Given the description of an element on the screen output the (x, y) to click on. 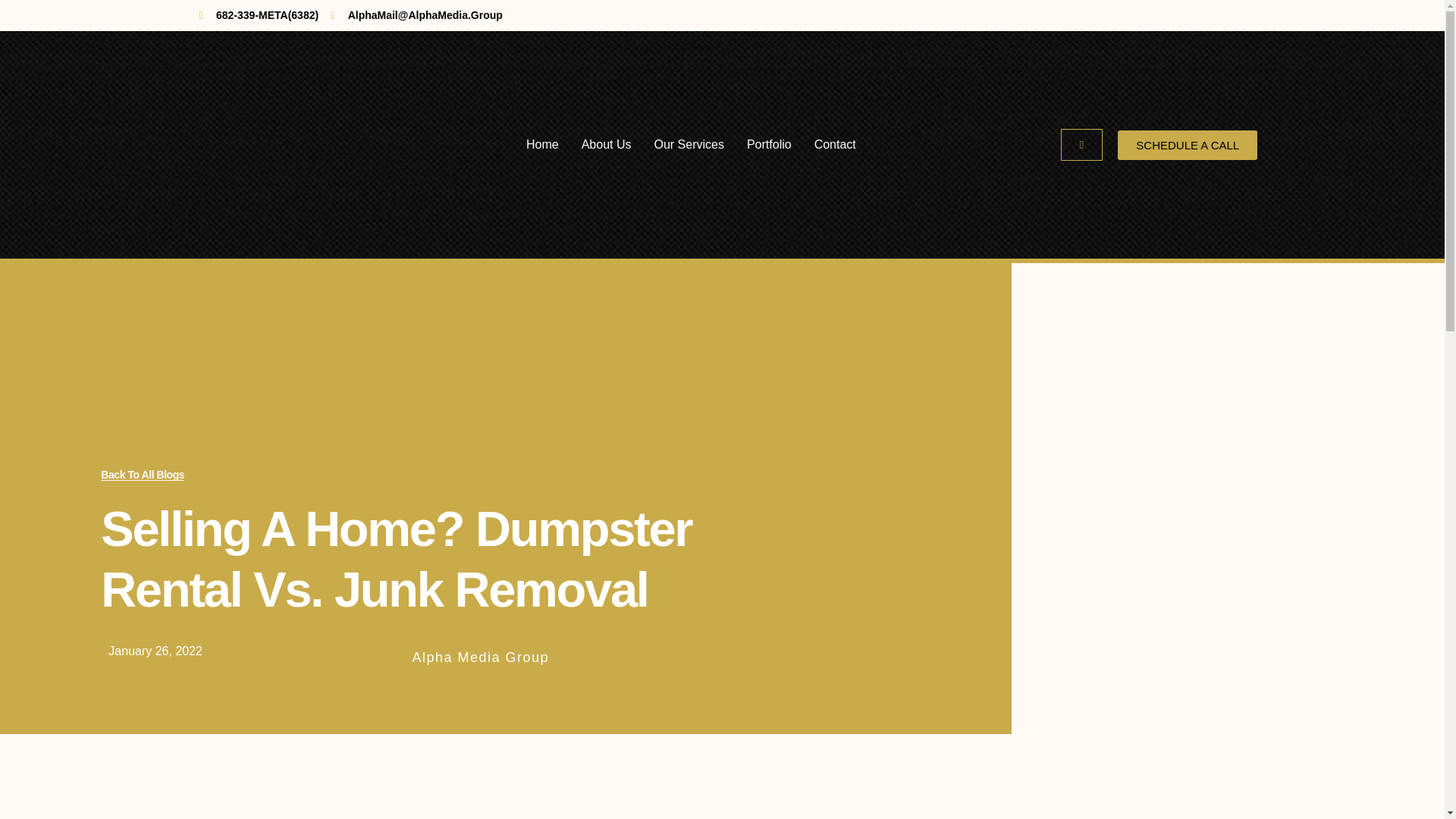
Portfolio (769, 144)
About Us (605, 144)
Contact (834, 144)
Home (542, 144)
Back To All Blogs (142, 474)
SCHEDULE A CALL (1187, 144)
Our Services (688, 144)
